Given the description of an element on the screen output the (x, y) to click on. 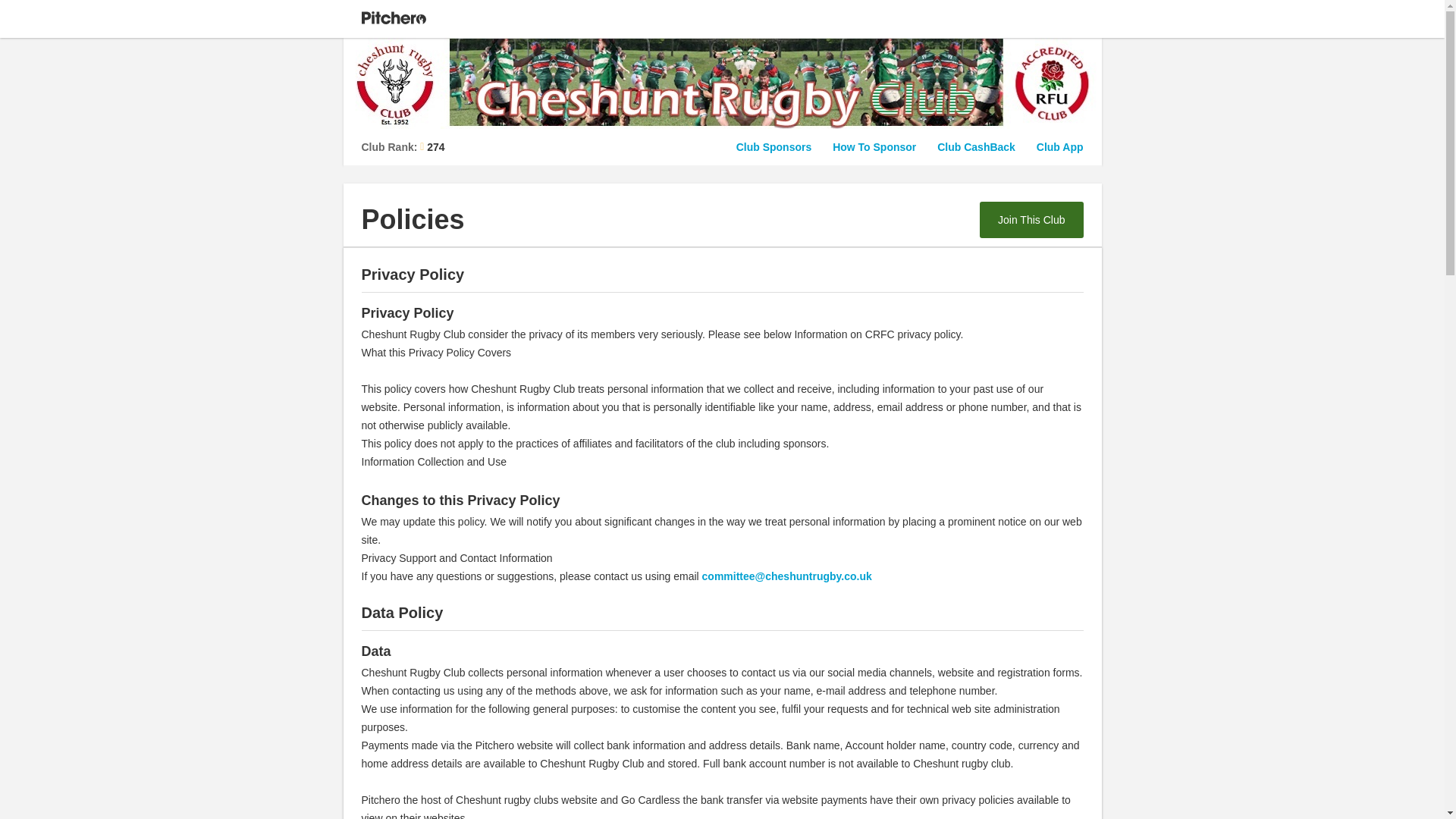
Pitchero (393, 18)
View club rankings (402, 147)
Club Sponsors (774, 146)
Club CashBack (975, 146)
How To Sponsor (873, 146)
Join This Club (1031, 219)
Club App (1059, 146)
